Given the description of an element on the screen output the (x, y) to click on. 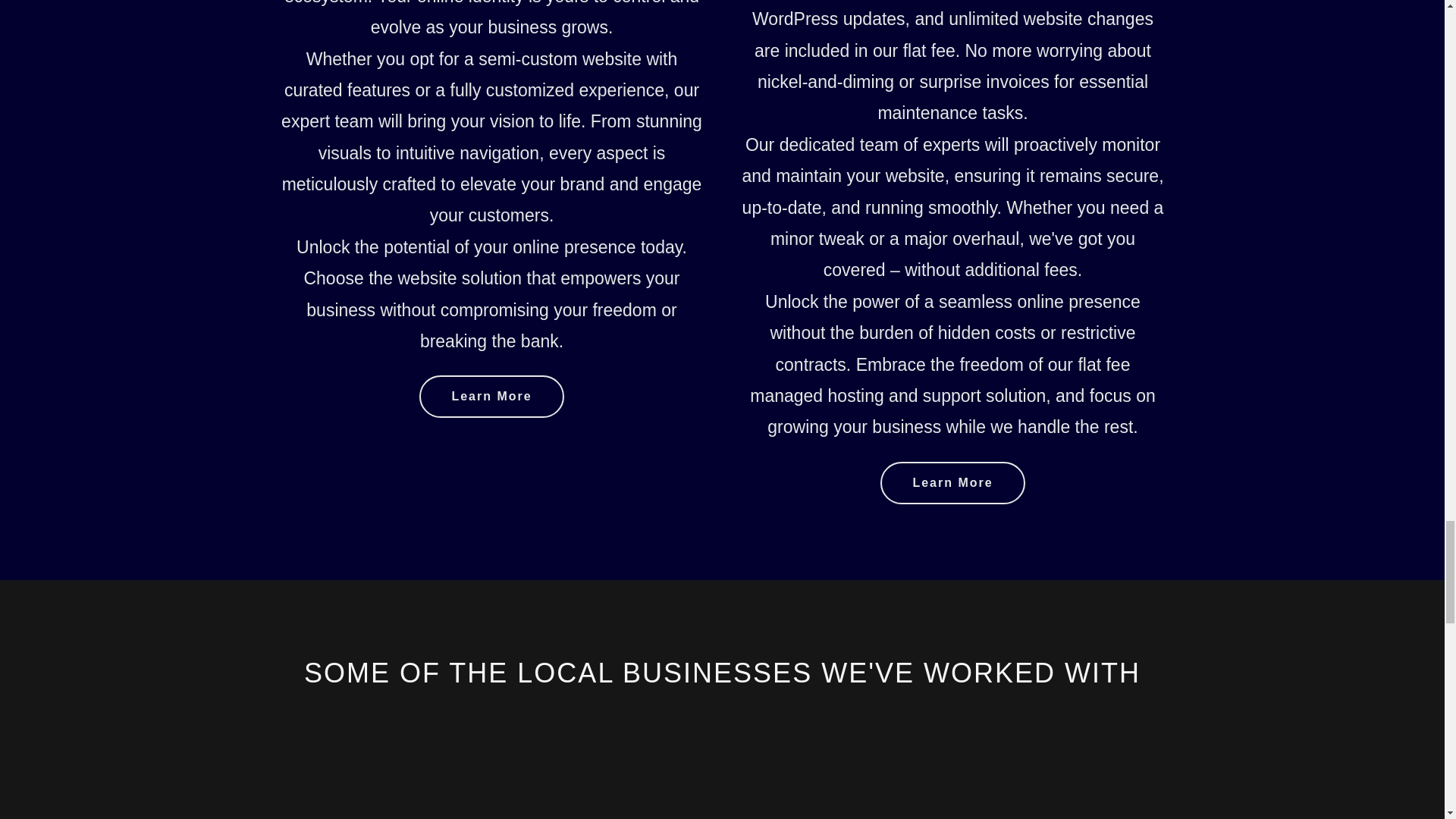
Learn More (491, 396)
Learn More (952, 482)
